Given the description of an element on the screen output the (x, y) to click on. 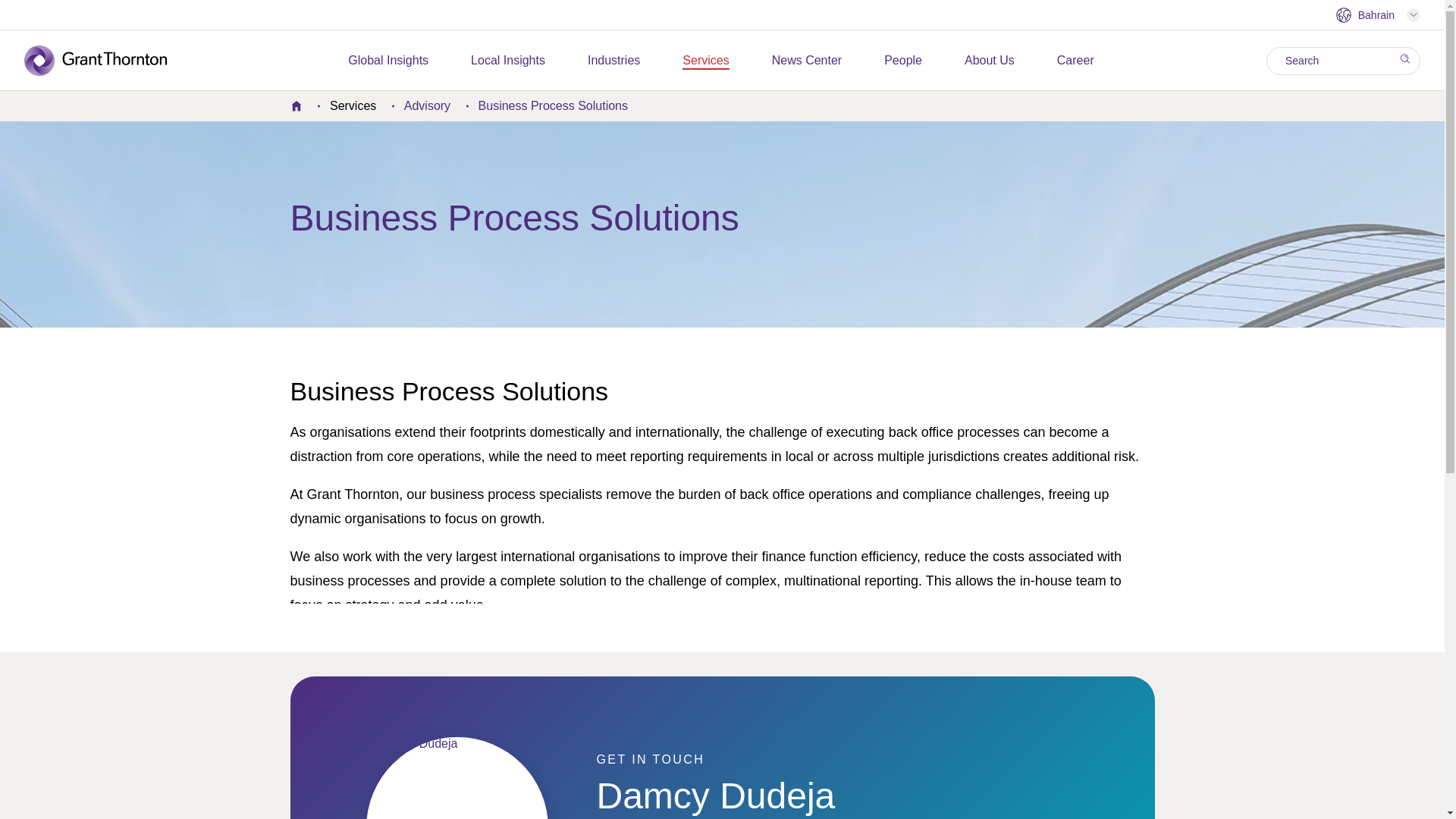
News Center (806, 60)
Career (1075, 60)
About Us (988, 60)
Industries (614, 60)
logo (105, 60)
External link - open a new window (387, 60)
Bahrain (1378, 14)
Explore the Grant Thornton network (1378, 14)
Local Insights (507, 60)
